Given the description of an element on the screen output the (x, y) to click on. 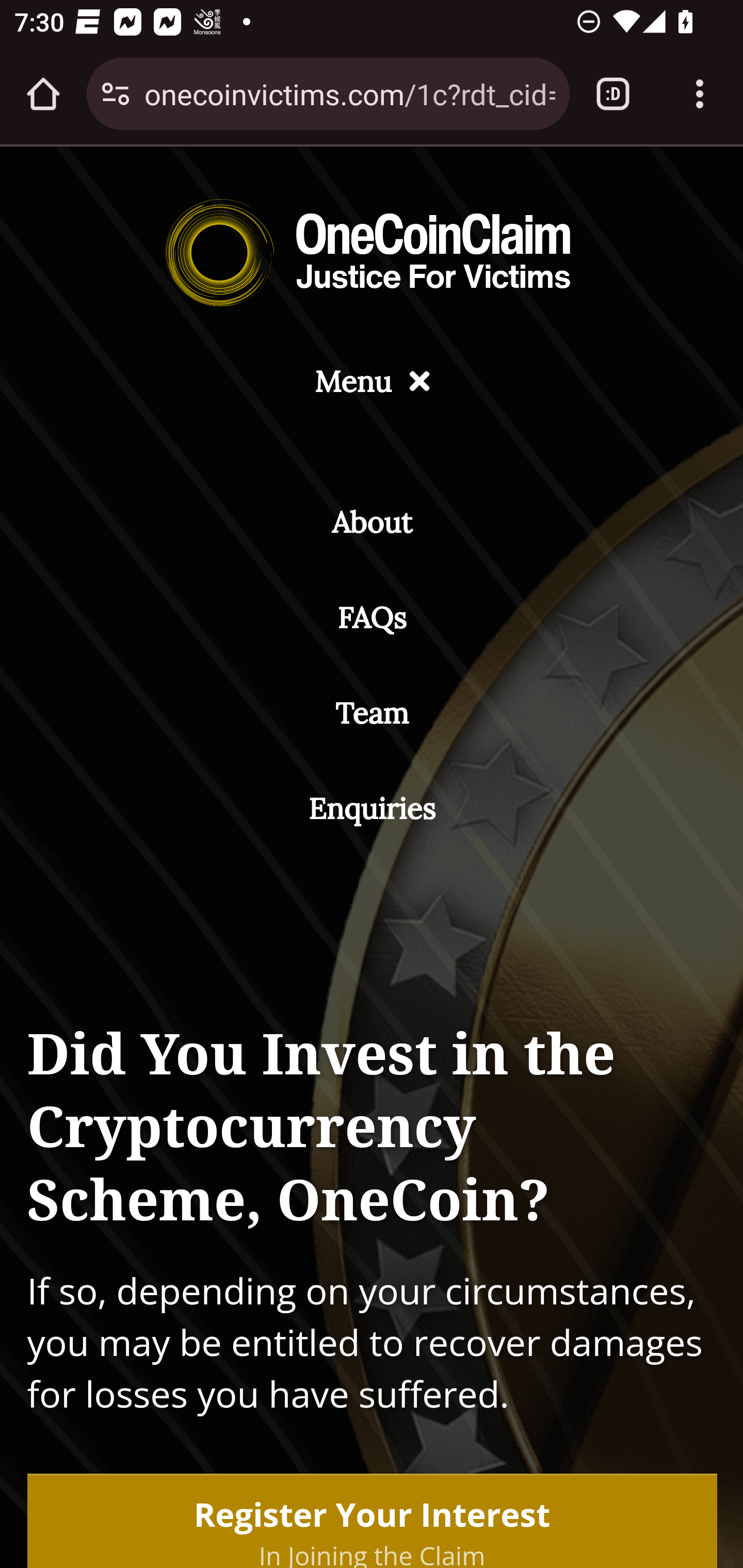
Open the home page (43, 93)
Connection is secure (115, 93)
Switch or close tabs (612, 93)
Customize and control Google Chrome (699, 93)
Menu  Menu  (371, 382)
About (371, 522)
FAQs (371, 618)
Team (371, 712)
Enquiries (371, 807)
